Given the description of an element on the screen output the (x, y) to click on. 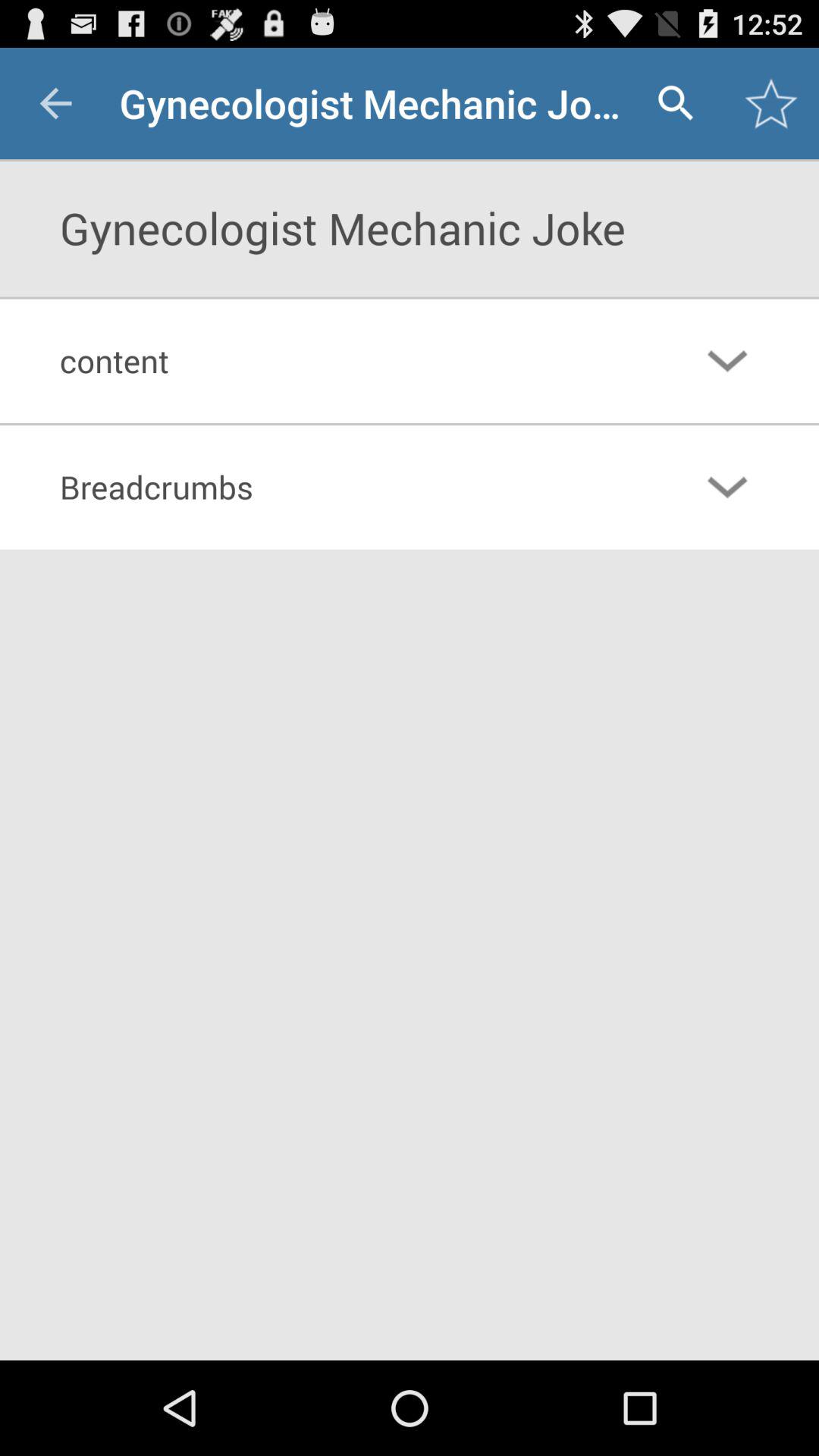
press the breadcrumbs at the center (347, 486)
